Given the description of an element on the screen output the (x, y) to click on. 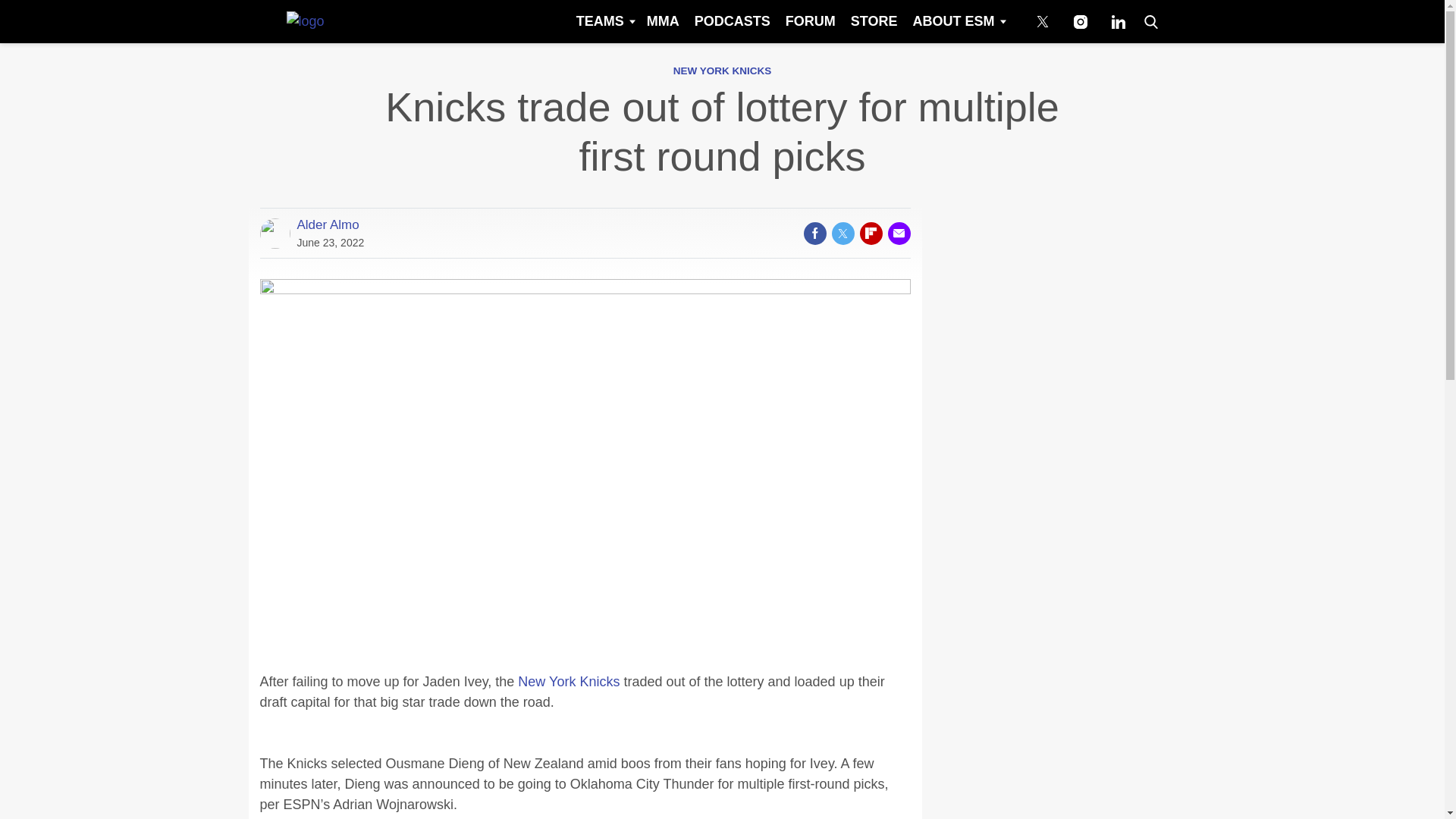
MMA (663, 21)
FORUM (810, 21)
TEAMS (604, 21)
PODCASTS (732, 21)
ABOUT ESM (957, 21)
STORE (874, 21)
Share on Twitter (842, 232)
Posts by Alder Almo (328, 225)
New York Knicks (569, 681)
Alder Almo (328, 225)
